Given the description of an element on the screen output the (x, y) to click on. 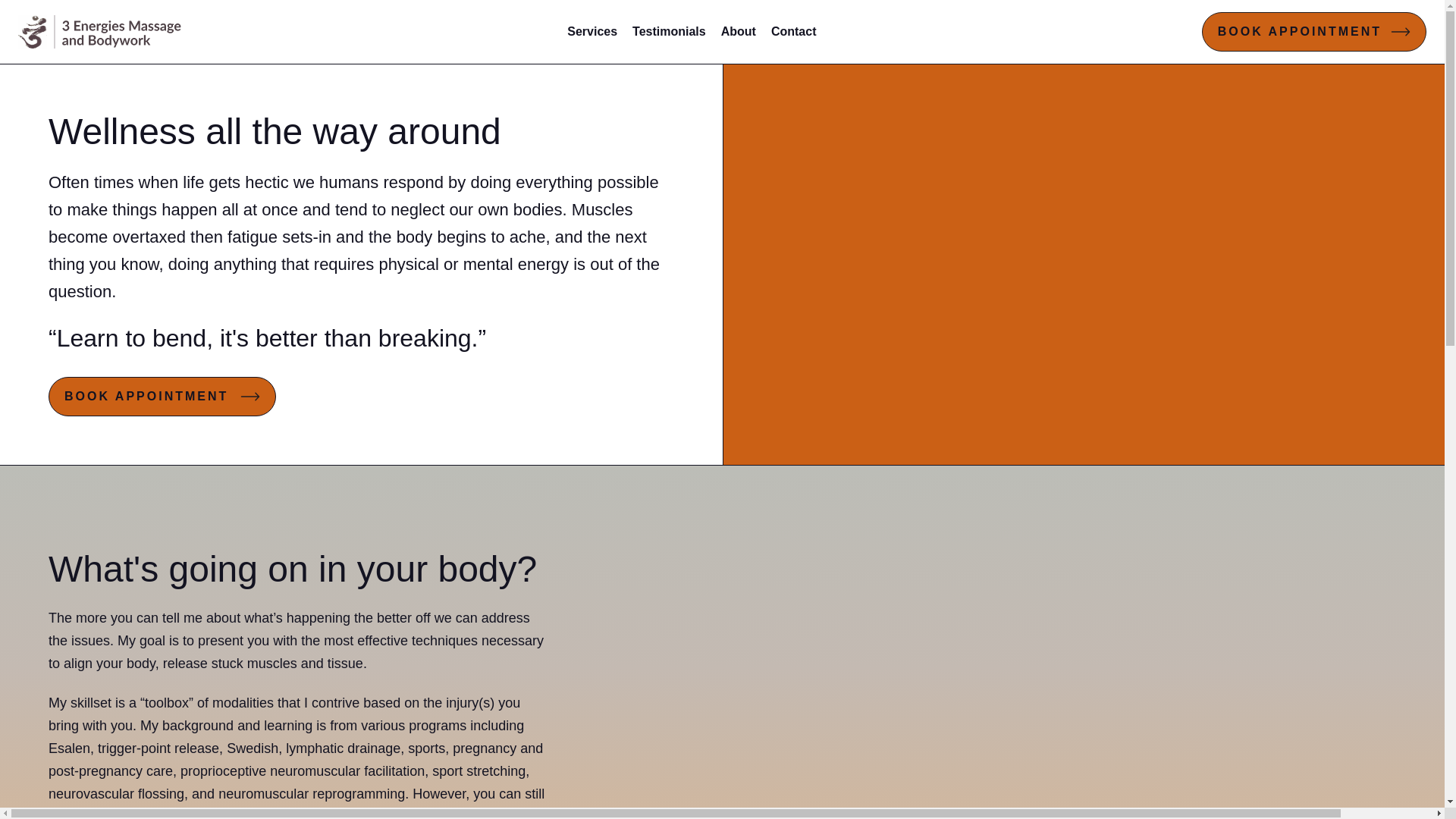
BOOK APPOINTMENT Element type: text (1313, 31)
Services Element type: text (592, 31)
About Element type: text (738, 31)
BOOK APPOINTMENT Element type: text (162, 396)
Contact Element type: text (793, 31)
Testimonials Element type: text (669, 31)
